Given the description of an element on the screen output the (x, y) to click on. 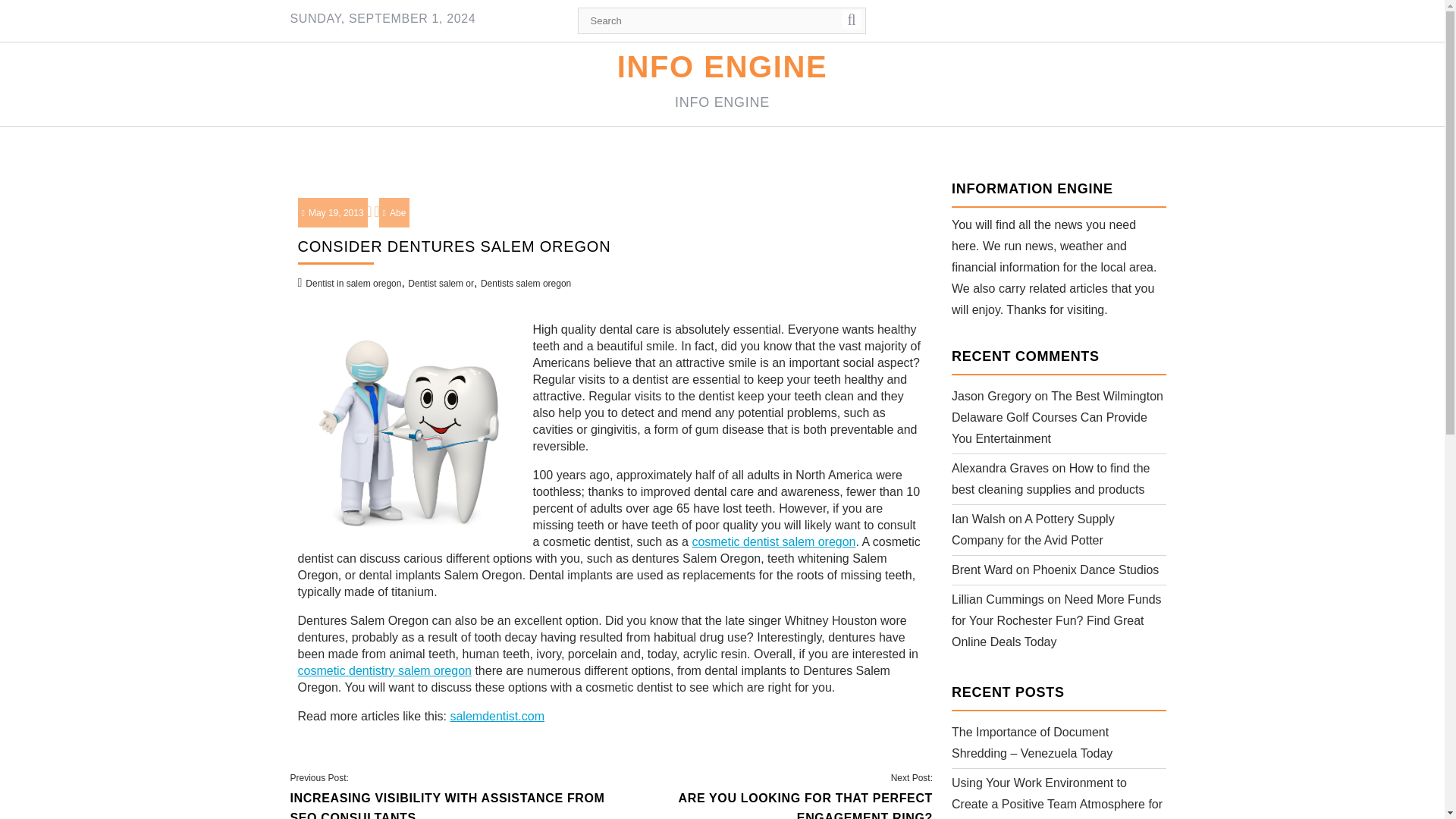
Dentist salem or (773, 541)
May 19, 2013 (332, 213)
How to find the best cleaning supplies and products (1051, 478)
A Pottery Supply Company for the Avid Potter (1033, 529)
Dentist salem or (772, 796)
Phoenix Dance Studios (440, 283)
cosmetic dentistry salem oregon (1095, 569)
